Given the description of an element on the screen output the (x, y) to click on. 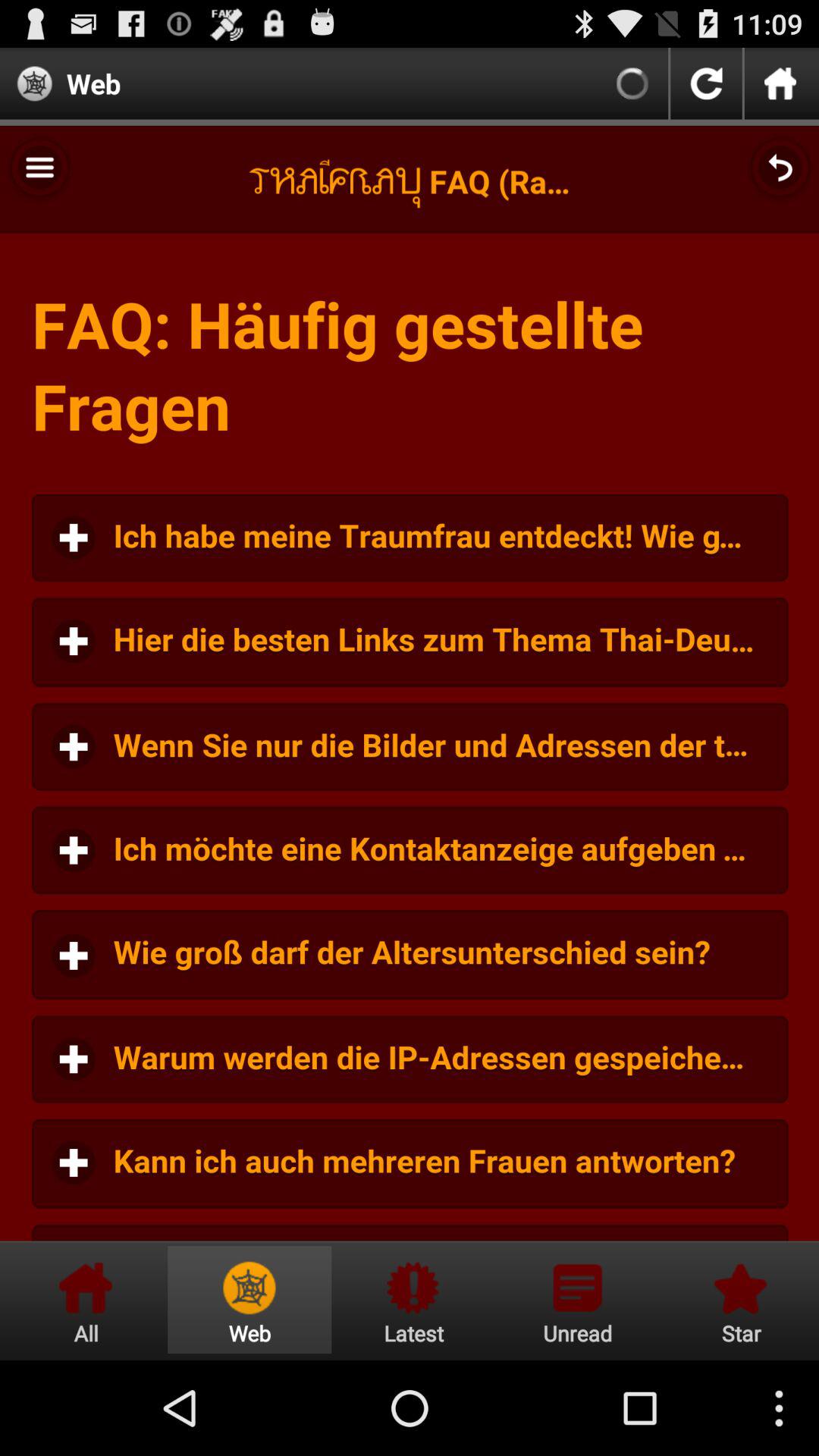
like this page (739, 1299)
